Given the description of an element on the screen output the (x, y) to click on. 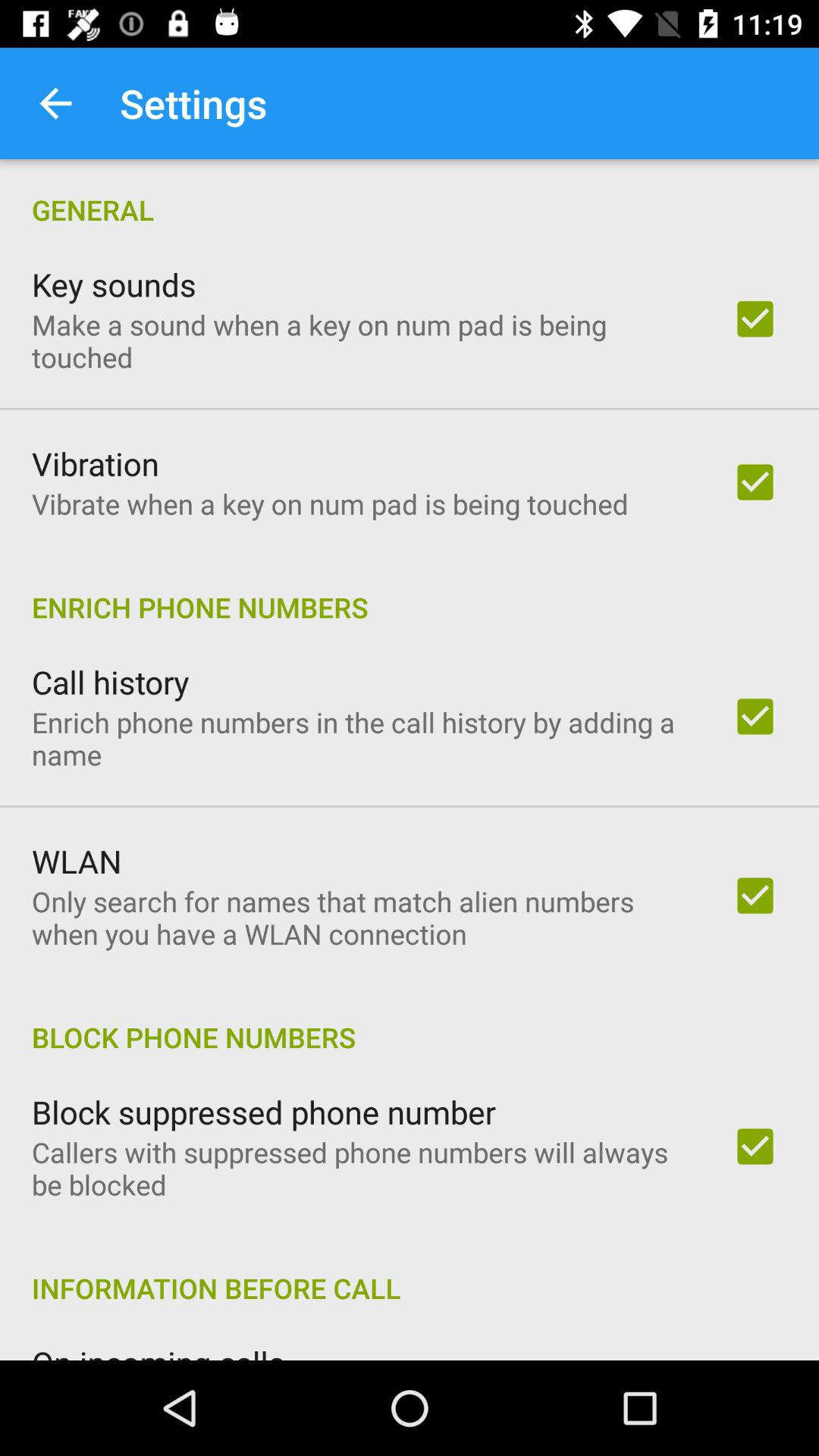
launch icon above the on incoming calls (409, 1271)
